Given the description of an element on the screen output the (x, y) to click on. 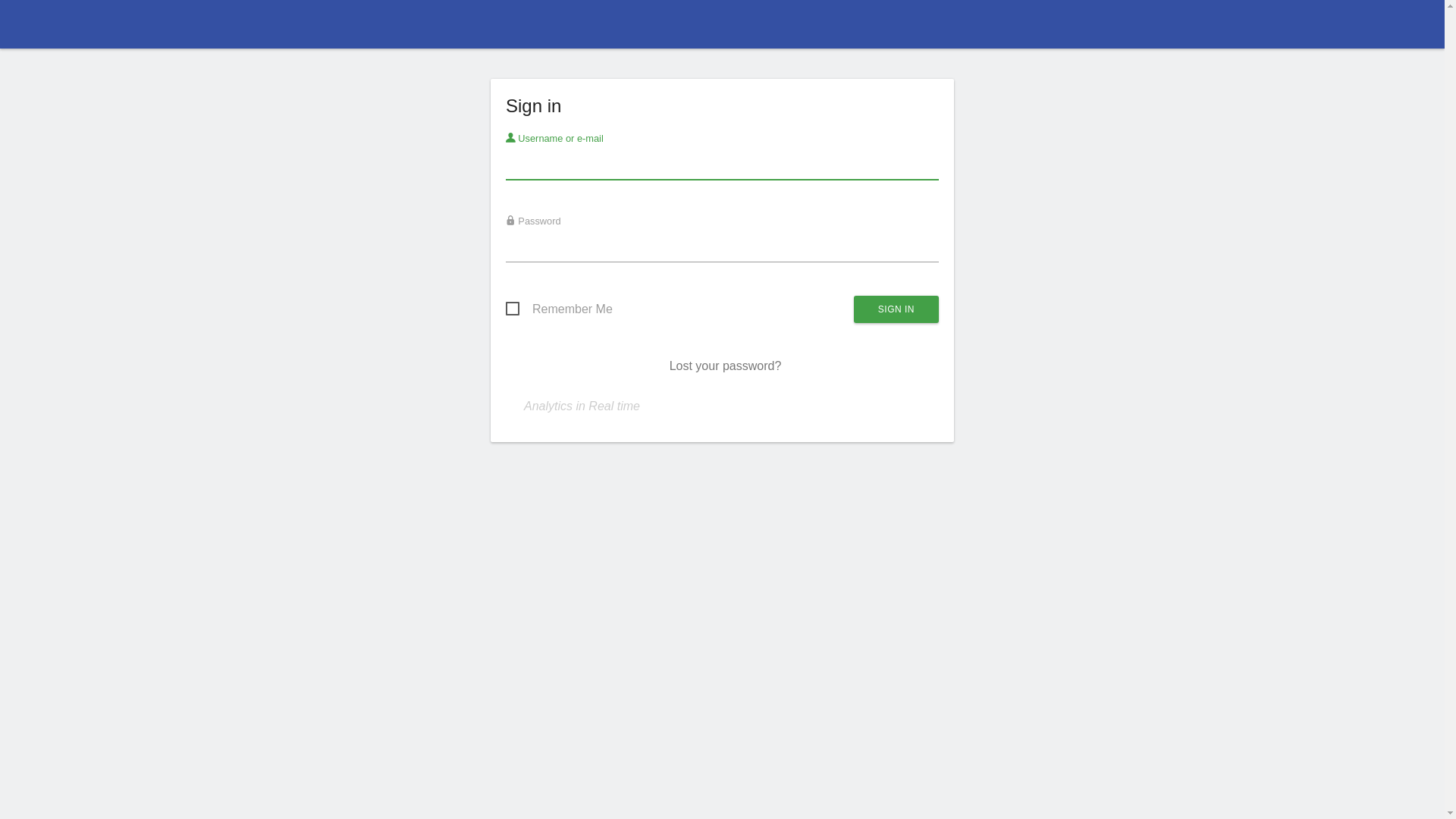
Powered by Matomo Element type: hover (722, 27)
Analytics in Real time Element type: text (582, 405)
Sign in Element type: text (895, 309)
Lost your password? Element type: text (725, 365)
